Given the description of an element on the screen output the (x, y) to click on. 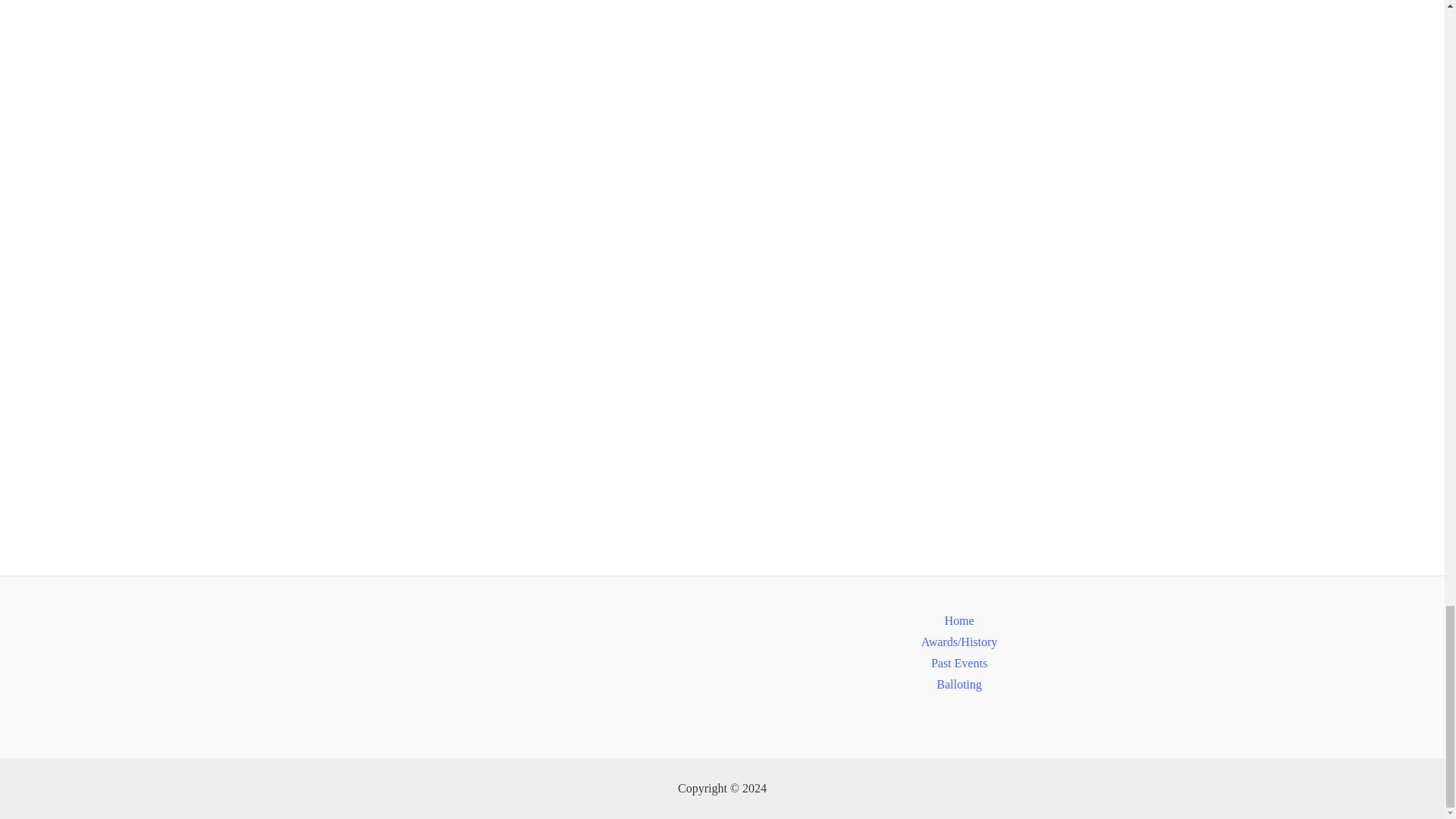
Past Events (958, 662)
Balloting (959, 683)
Home (958, 619)
